Given the description of an element on the screen output the (x, y) to click on. 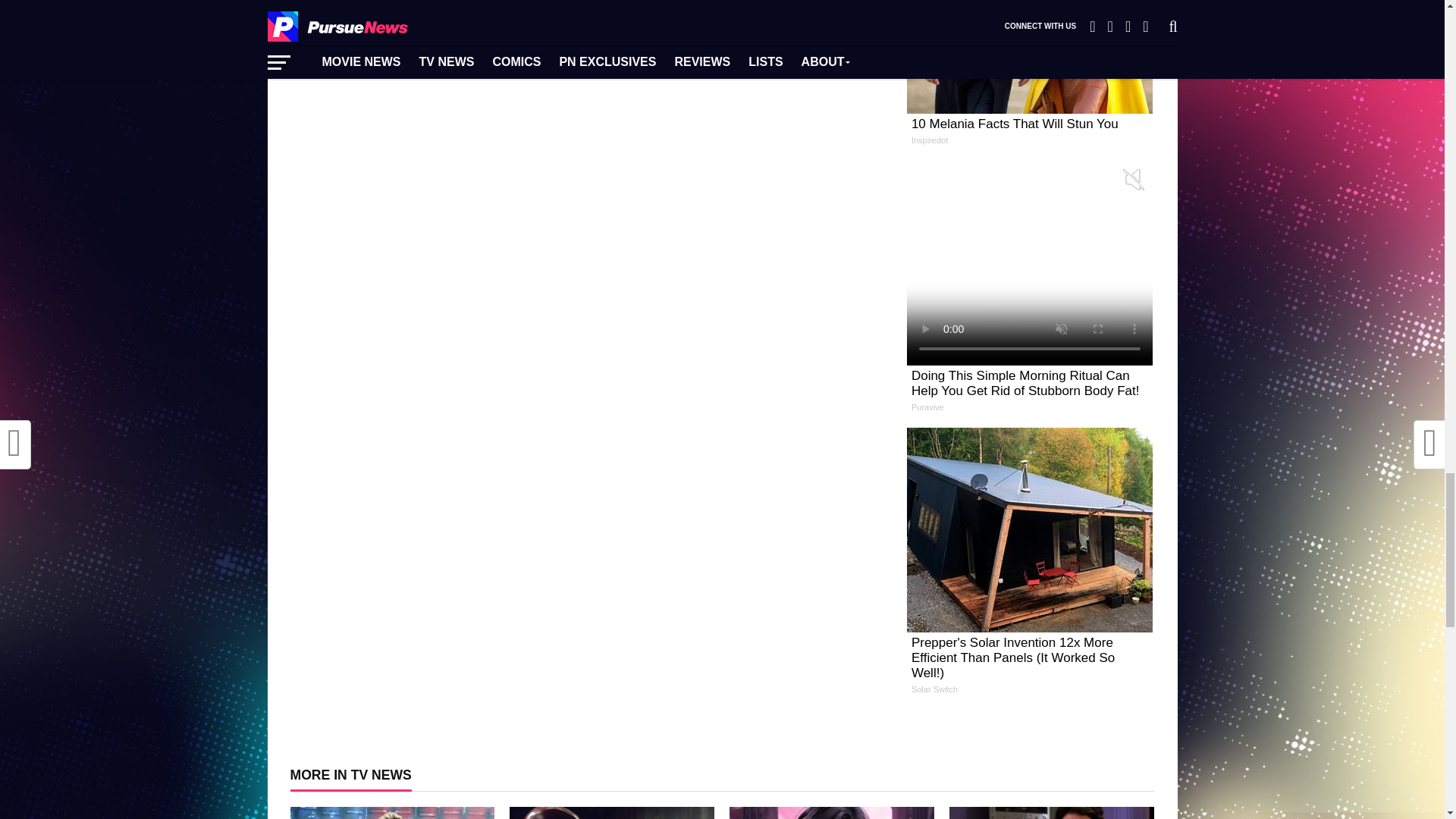
10 Melania Facts That Will Stun You (1030, 78)
